Given the description of an element on the screen output the (x, y) to click on. 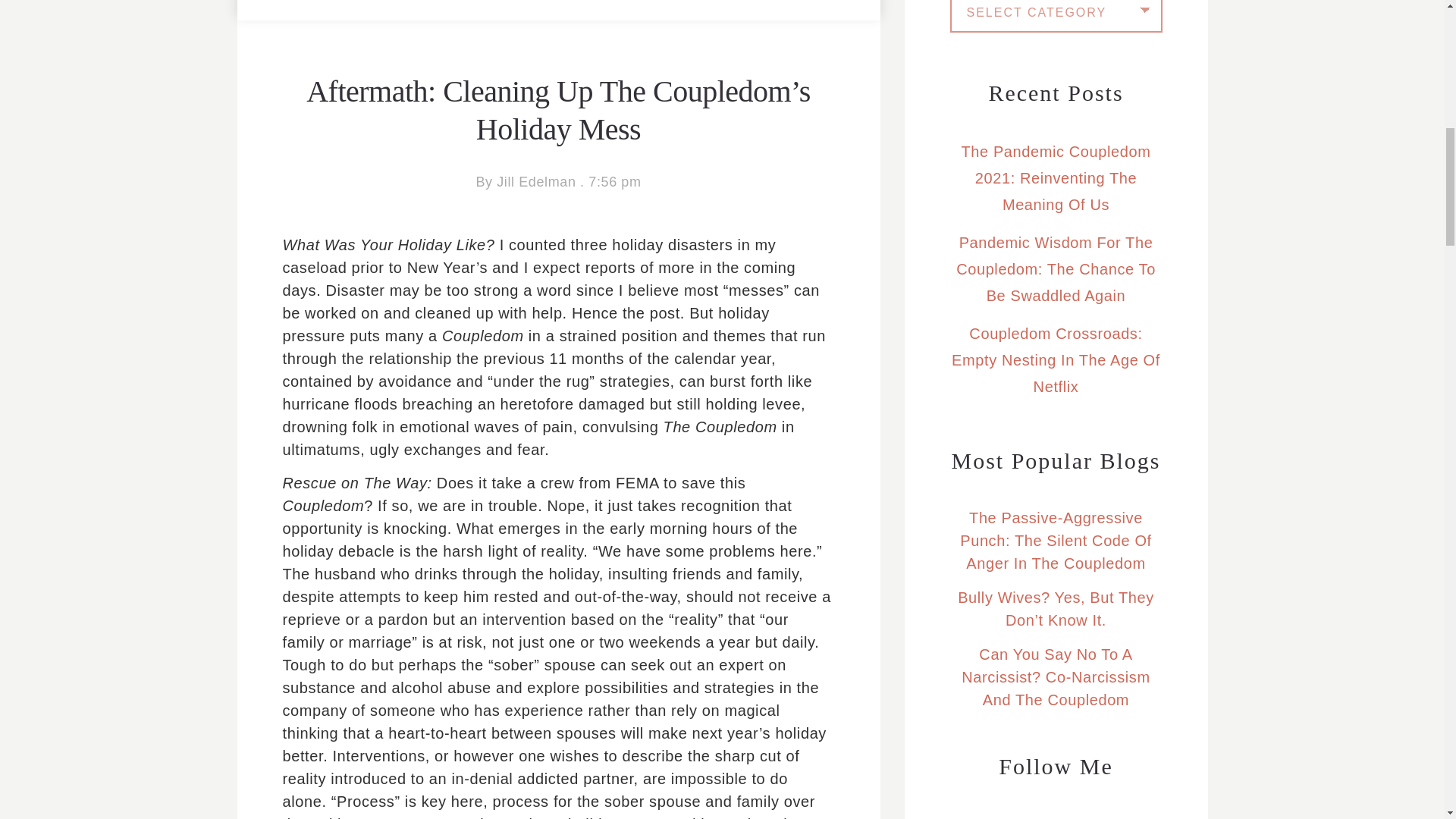
Coupledom Crossroads: Empty Nesting In The Age Of Netflix (1056, 359)
The Pandemic Coupledom 2021: Reinventing The Meaning Of Us (1055, 177)
